Given the description of an element on the screen output the (x, y) to click on. 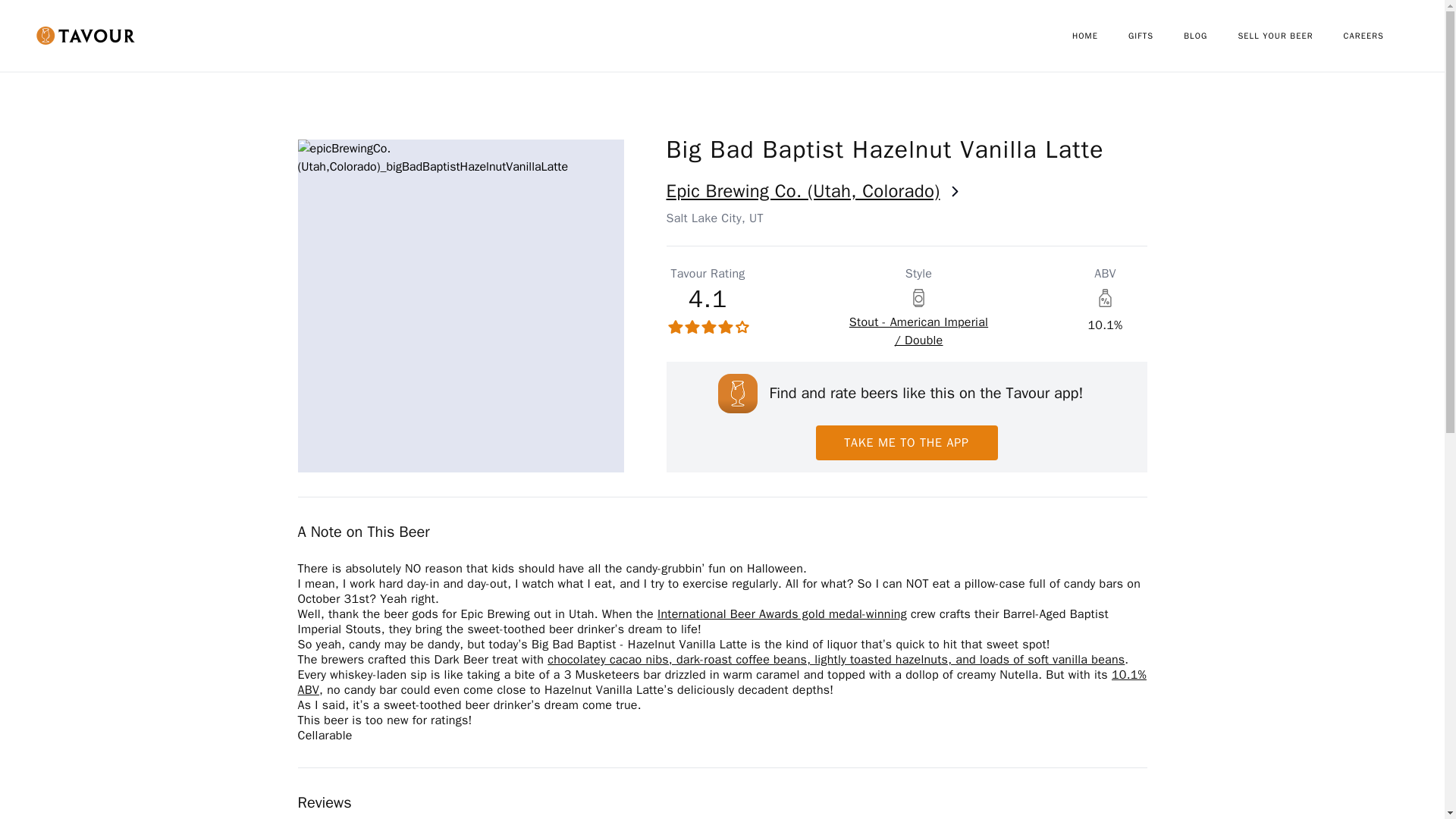
careers (1378, 35)
BLOG (1210, 35)
SELL YOUR BEER (1289, 35)
HOME (1099, 35)
gifts (1155, 35)
sell your beer (1289, 35)
home (1099, 35)
blog (1210, 35)
GIFTS (1155, 35)
CAREERS (1378, 35)
